Given the description of an element on the screen output the (x, y) to click on. 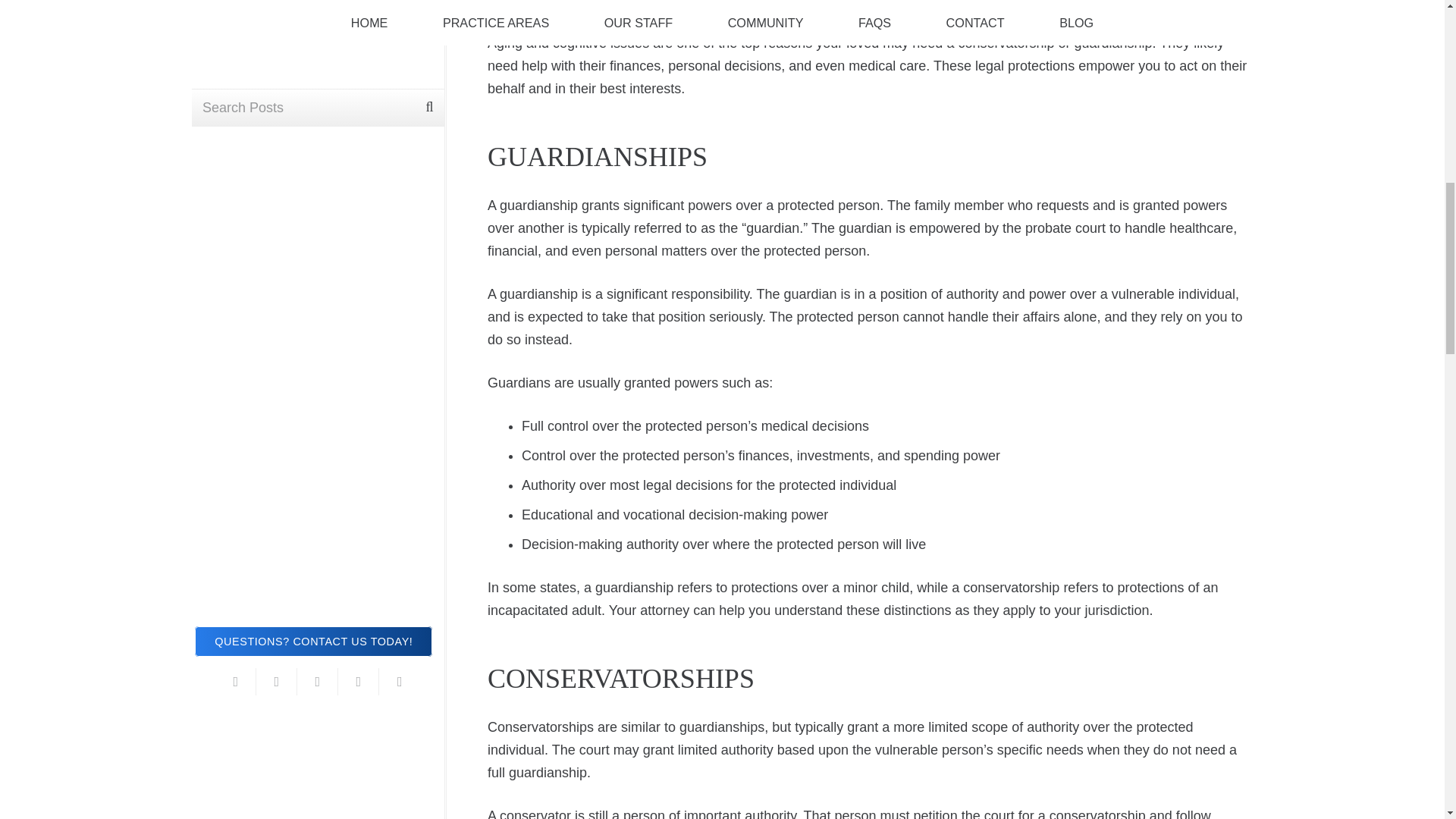
Share this (357, 47)
QUESTIONS? CONTACT US TODAY! (313, 11)
Email this (235, 47)
Tweet this (317, 47)
Share this (276, 47)
Back to top (1413, 37)
Share this (399, 47)
